Given the description of an element on the screen output the (x, y) to click on. 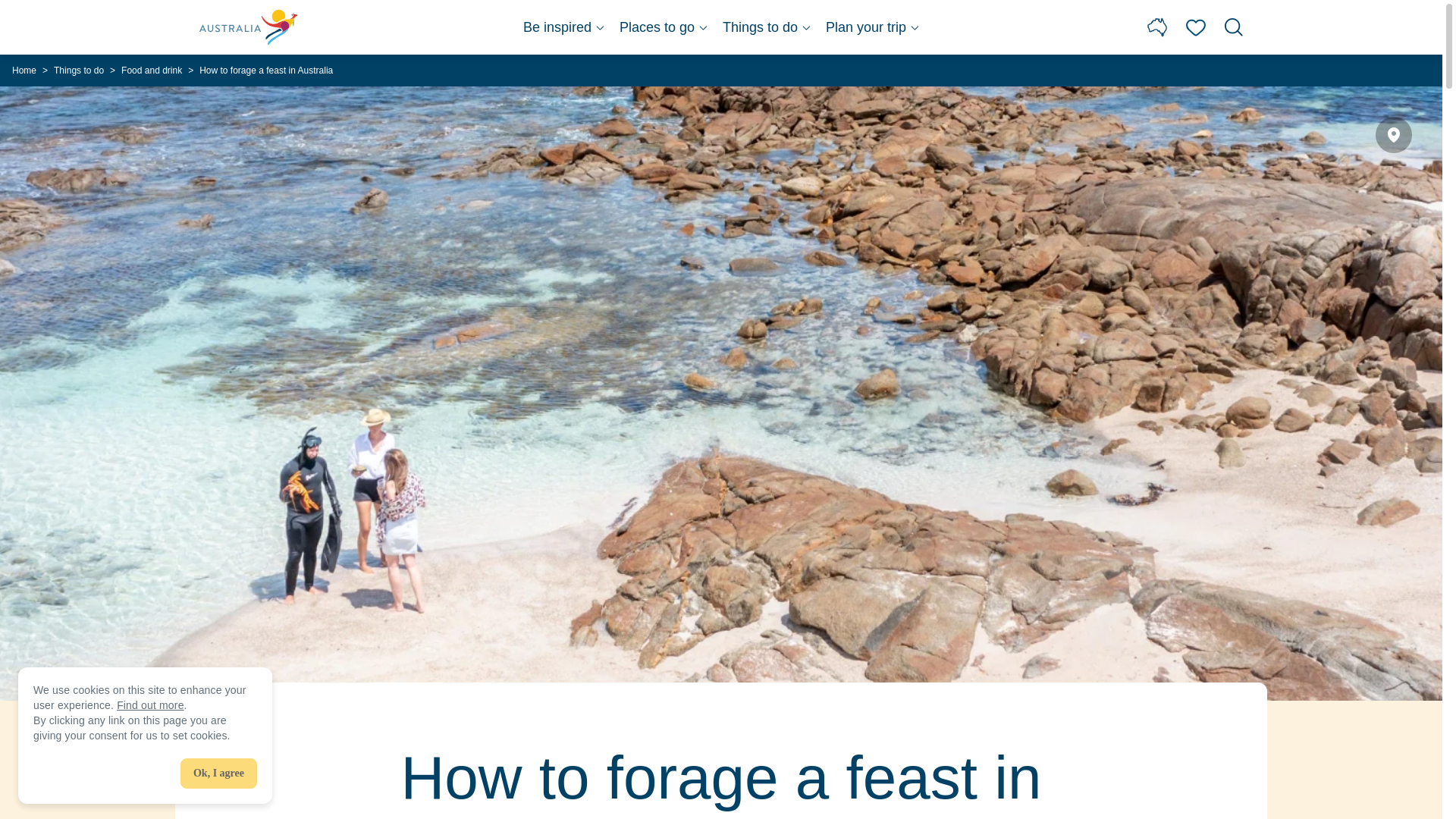
Australia (248, 27)
Be inspired (563, 27)
Places to go (663, 27)
Things to do (766, 27)
Plan your trip (871, 27)
